Given the description of an element on the screen output the (x, y) to click on. 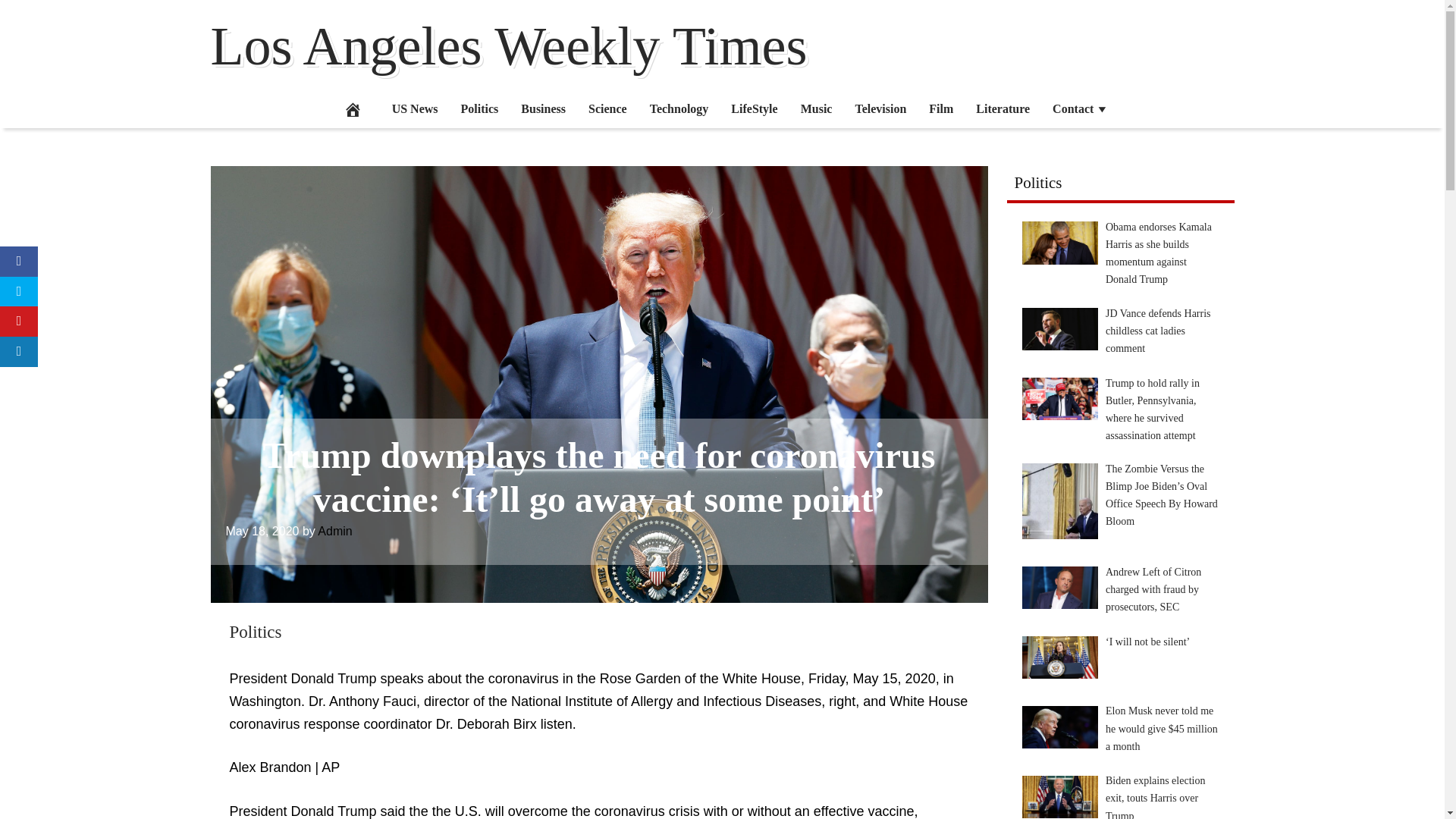
Politics (480, 108)
Elon Musk never told me he would give  million a month (1059, 726)
Science (607, 108)
Biden explains election exit, touts Harris over Trump (1059, 796)
Politics (254, 631)
JD Vance defends Harris childless cat ladies comment (1059, 328)
Music (816, 108)
Los Angeles Weekly Times (509, 45)
Business (542, 108)
Film (940, 108)
Technology (679, 108)
US News (414, 108)
Literature (1002, 108)
Television (880, 108)
